Given the description of an element on the screen output the (x, y) to click on. 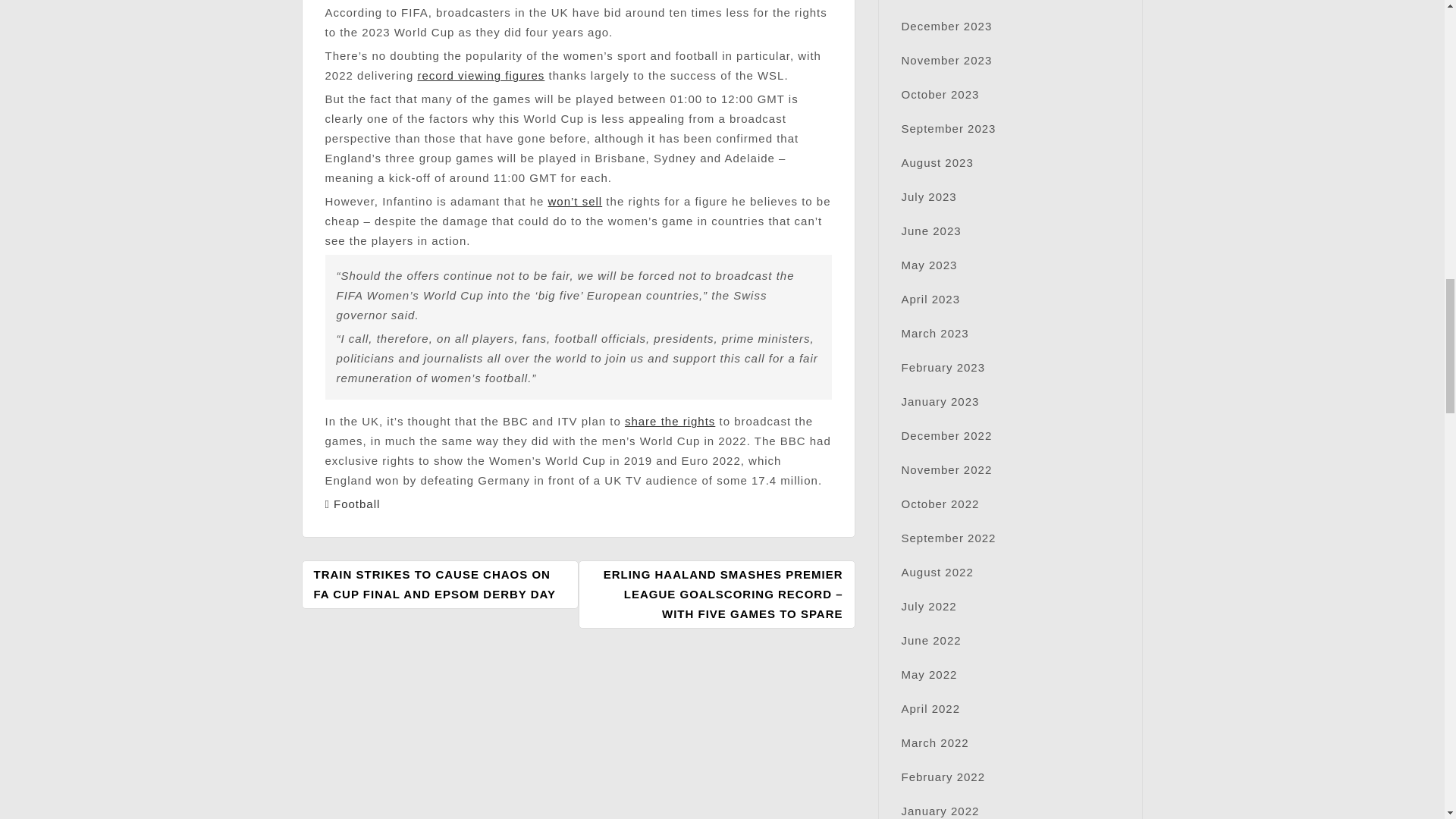
Football (356, 503)
share the rights (669, 420)
record viewing figures (480, 74)
